Given the description of an element on the screen output the (x, y) to click on. 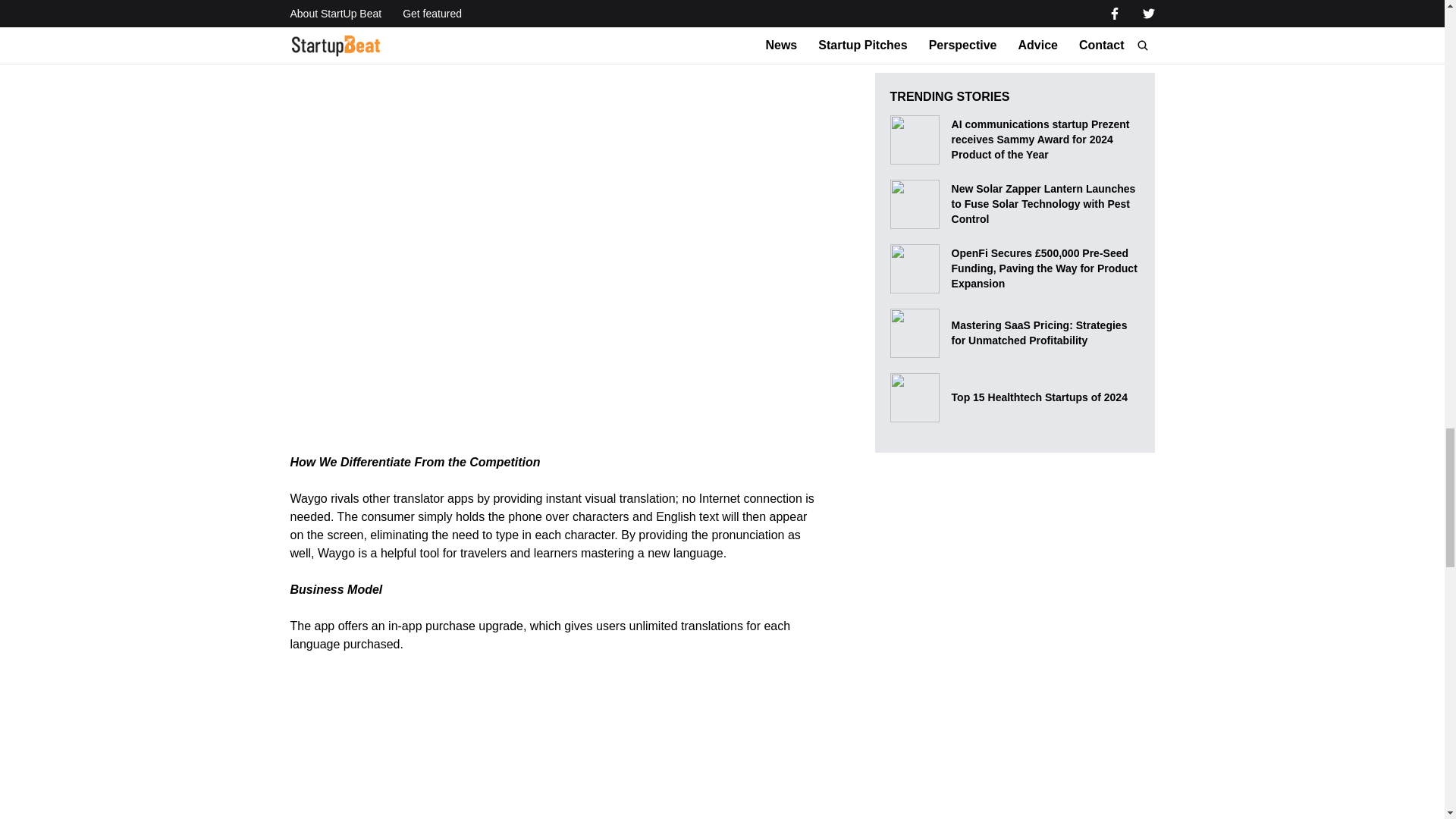
Restaurant Disaster - Waygo Translator (478, 745)
